Given the description of an element on the screen output the (x, y) to click on. 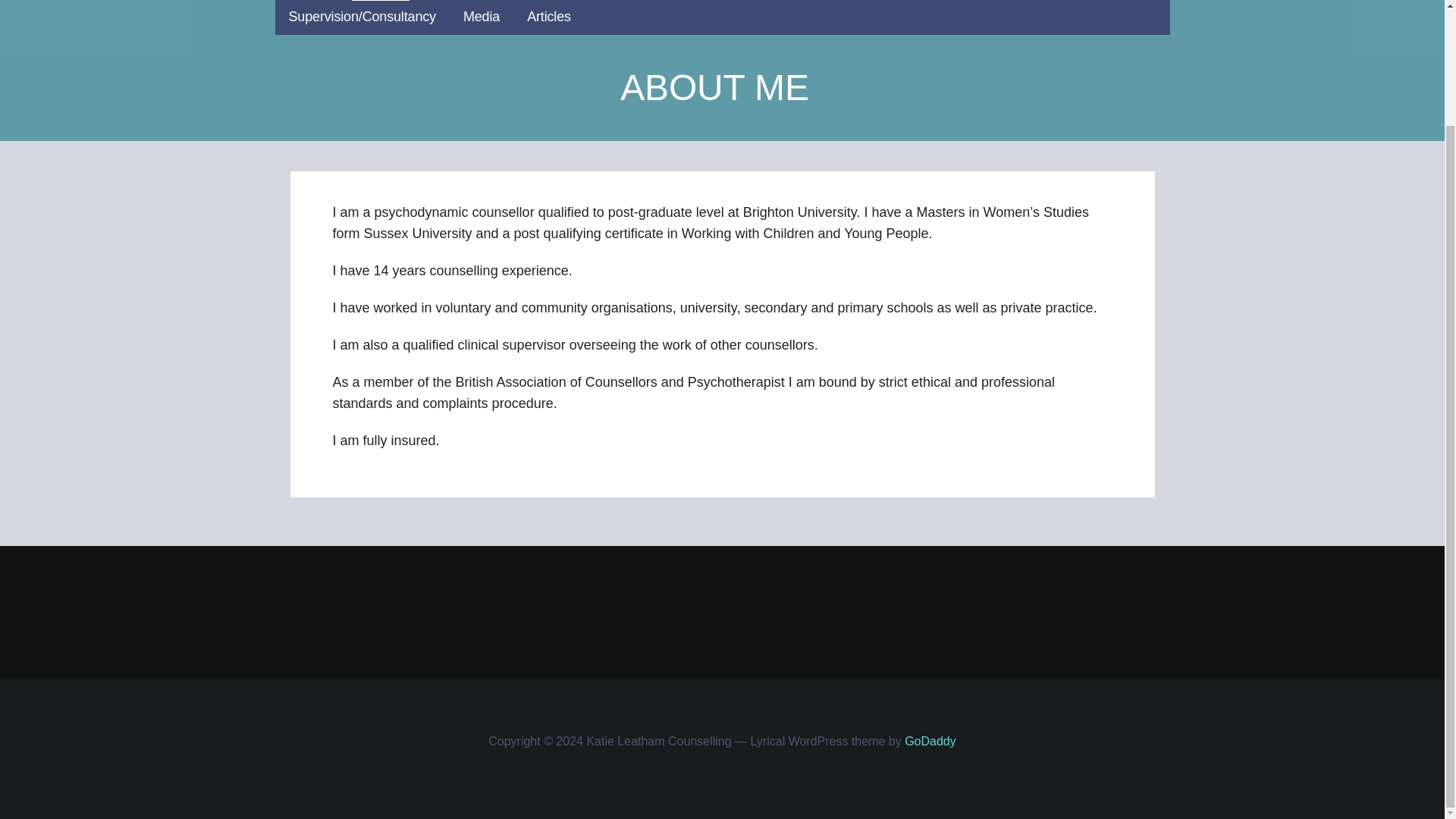
Parenting (739, 0)
About me (380, 0)
Counselling (471, 0)
Media (481, 17)
Articles (548, 17)
GoDaddy (930, 740)
